Given the description of an element on the screen output the (x, y) to click on. 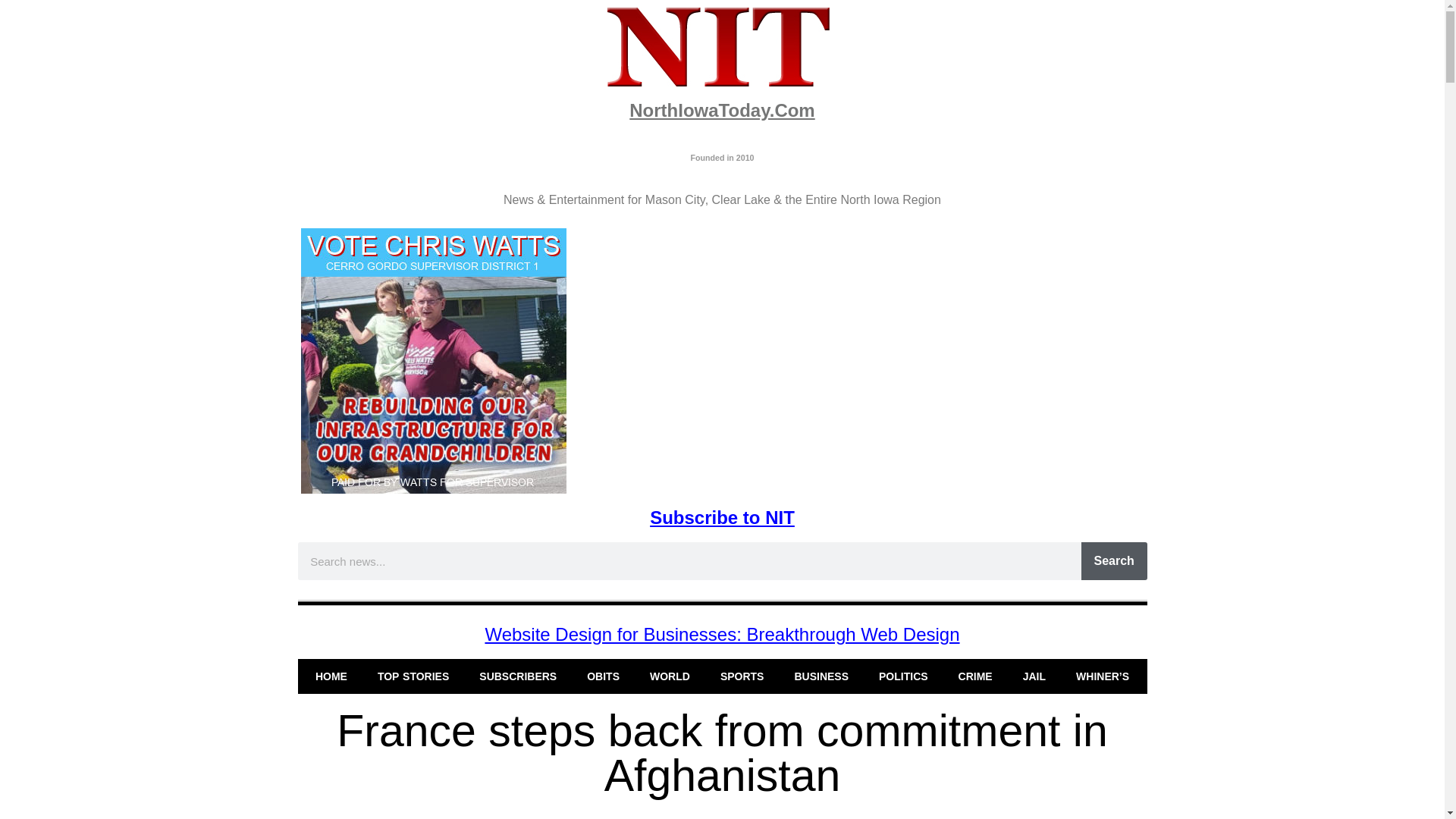
OBITS (603, 676)
HOME (330, 676)
SPORTS (741, 676)
WORLD (669, 676)
JAIL (1034, 676)
CRIME (975, 676)
Subscribe to NIT (721, 516)
NorthIowaToday.Com (720, 109)
Search (1114, 560)
TOP STORIES (413, 676)
BUSINESS (820, 676)
SUBSCRIBERS (518, 676)
POLITICS (903, 676)
Website Design for Businesses: Breakthrough Web Design (721, 634)
